Given the description of an element on the screen output the (x, y) to click on. 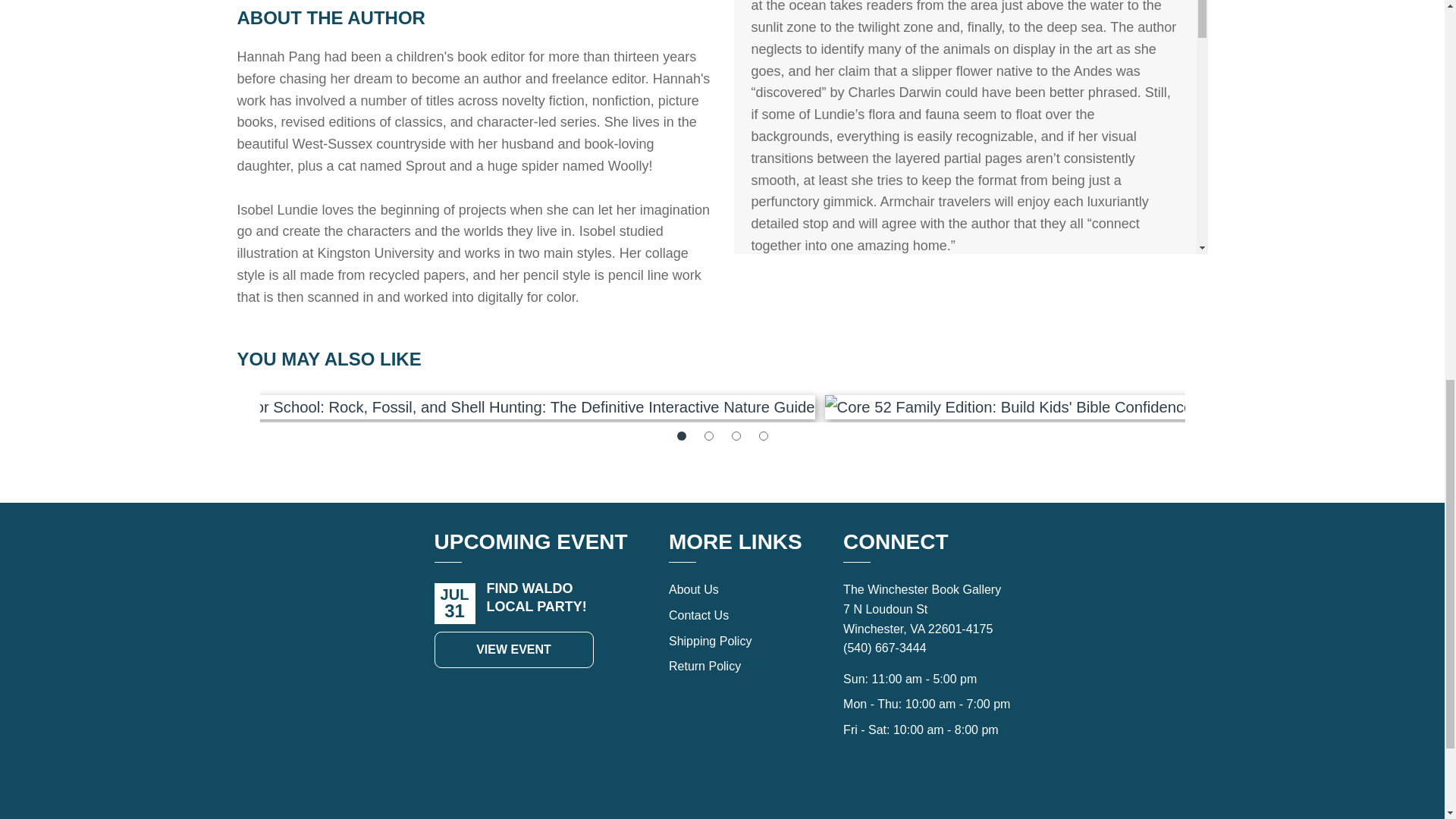
Connect with Facebook (909, 793)
Connect with Instagram (943, 793)
